Given the description of an element on the screen output the (x, y) to click on. 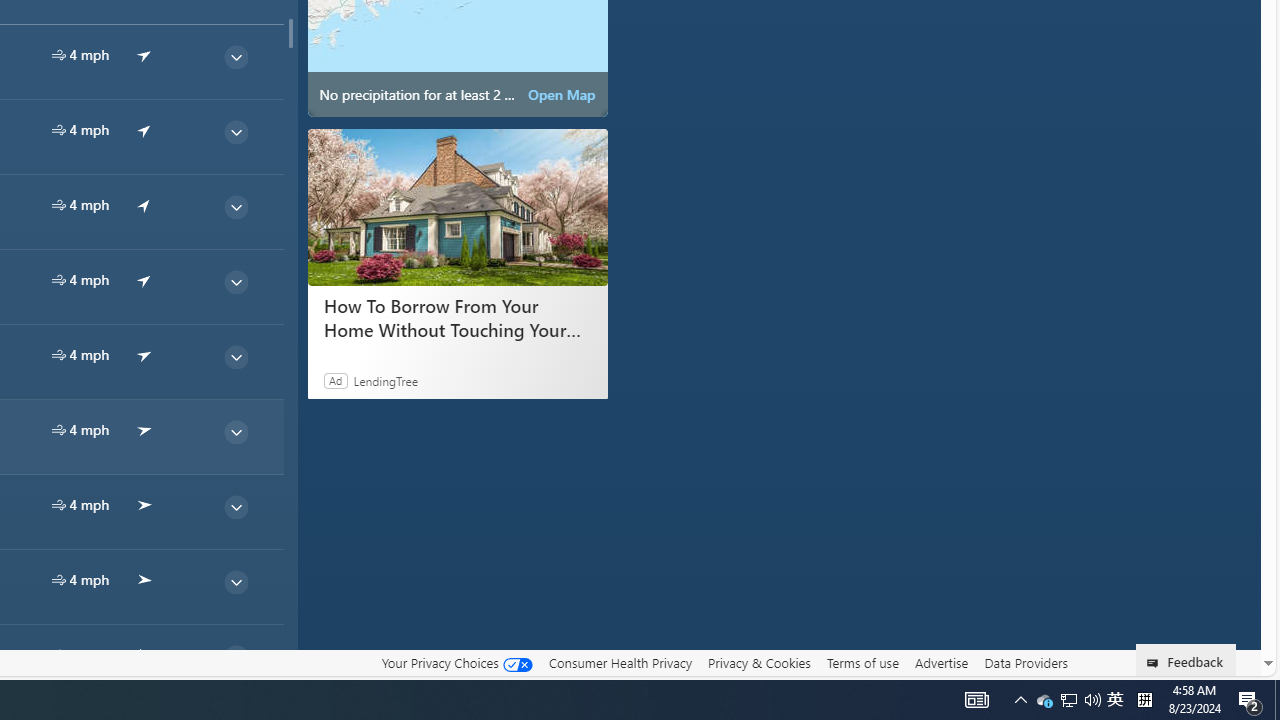
common/arrow (143, 654)
Open Map (561, 94)
Data Providers (1025, 663)
Data Providers (1025, 662)
common/thinArrow (235, 656)
